Given the description of an element on the screen output the (x, y) to click on. 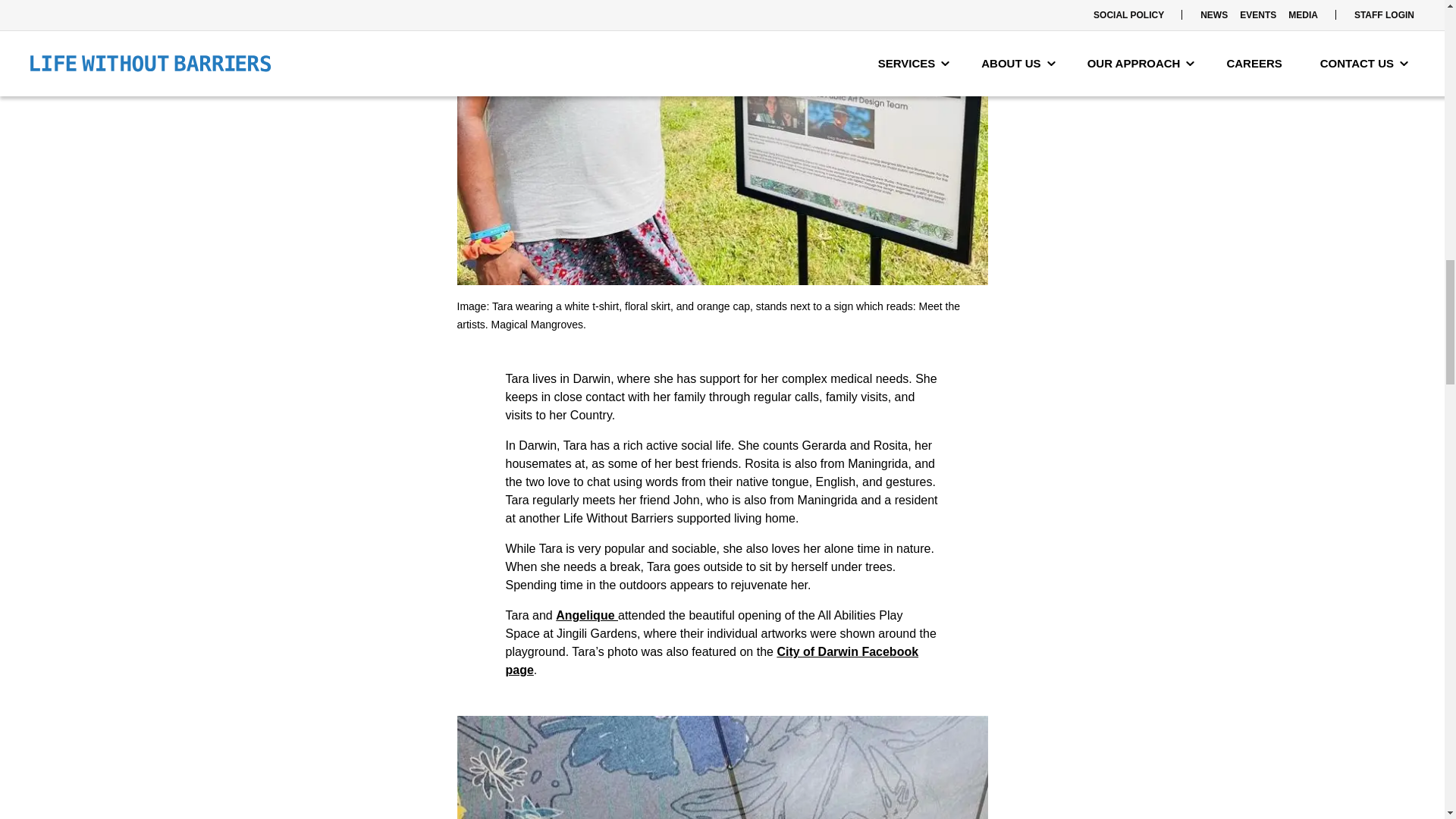
Angelique (586, 615)
City of Darwin Facebook page (711, 660)
